Given the description of an element on the screen output the (x, y) to click on. 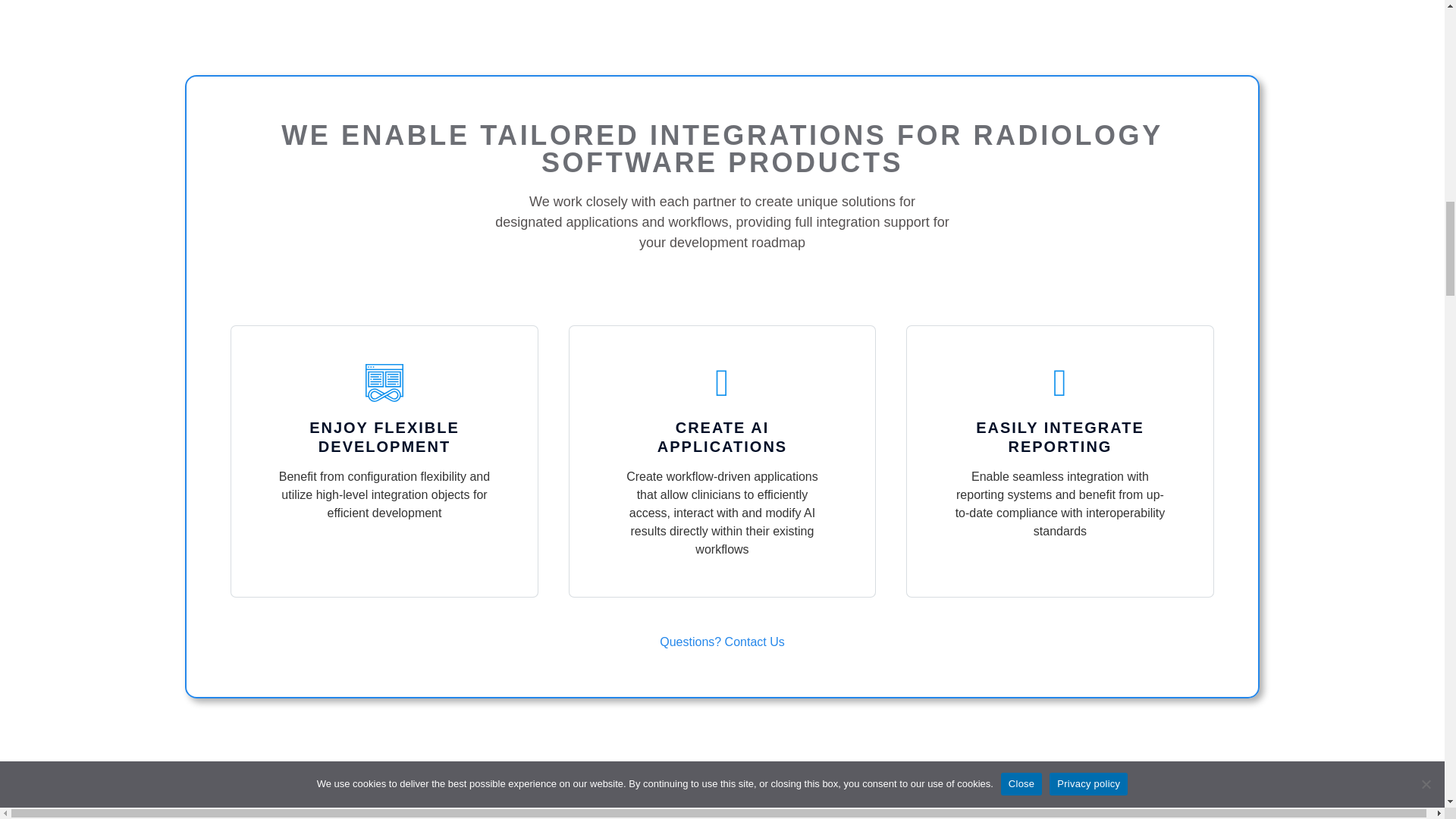
Questions? Contact Us (721, 643)
